Given the description of an element on the screen output the (x, y) to click on. 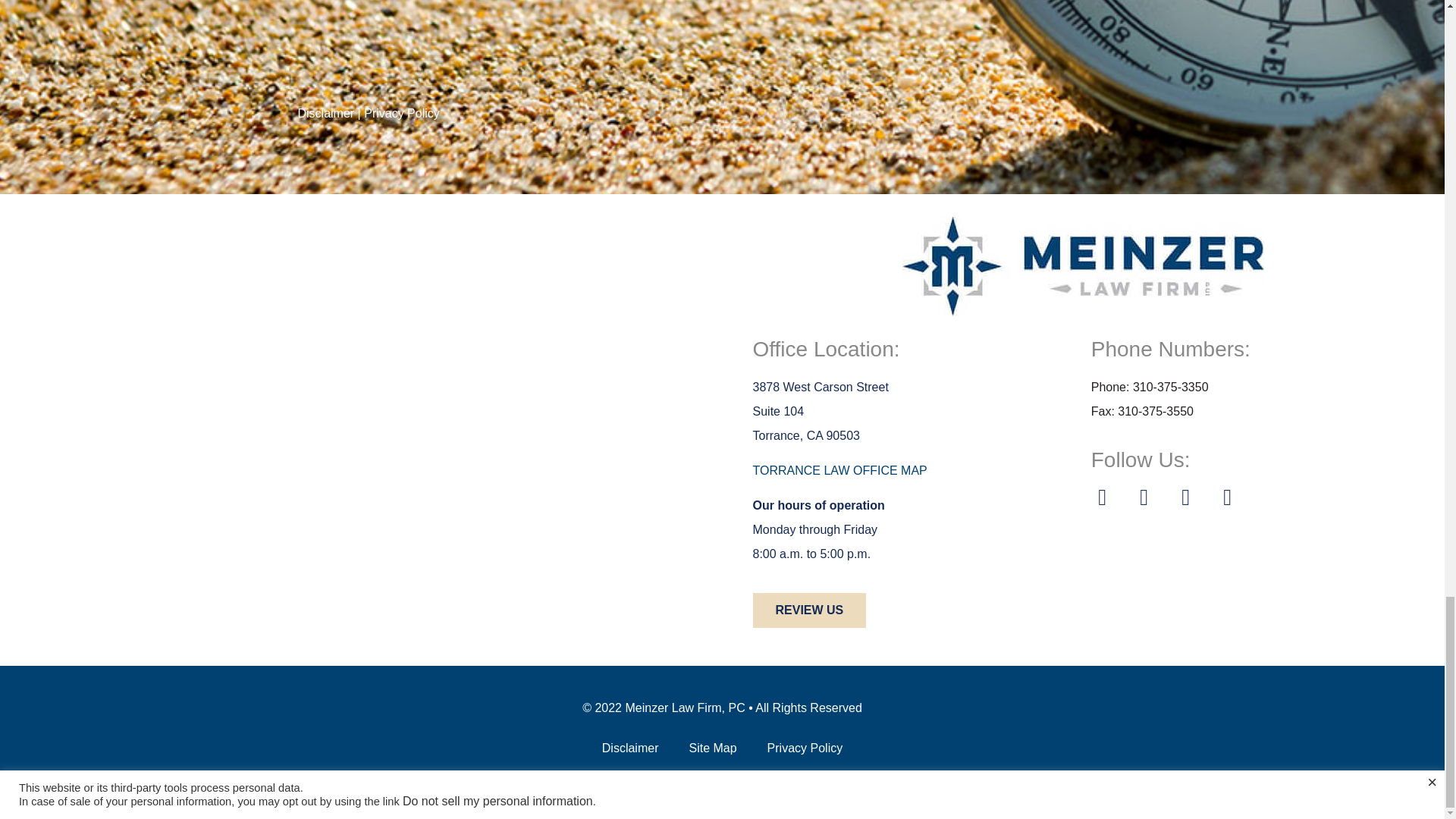
Schedule A Consultation (722, 38)
